Given the description of an element on the screen output the (x, y) to click on. 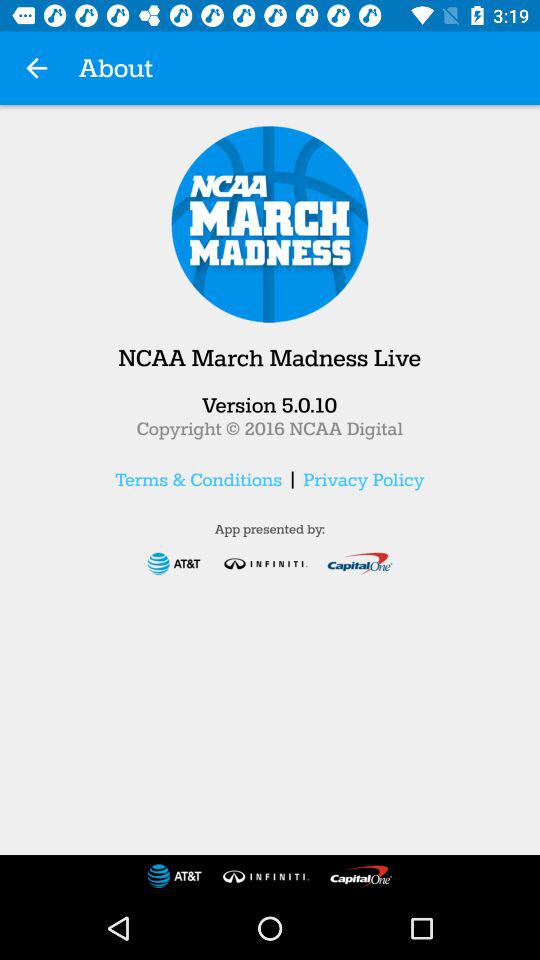
turn on terms & conditions (198, 479)
